Given the description of an element on the screen output the (x, y) to click on. 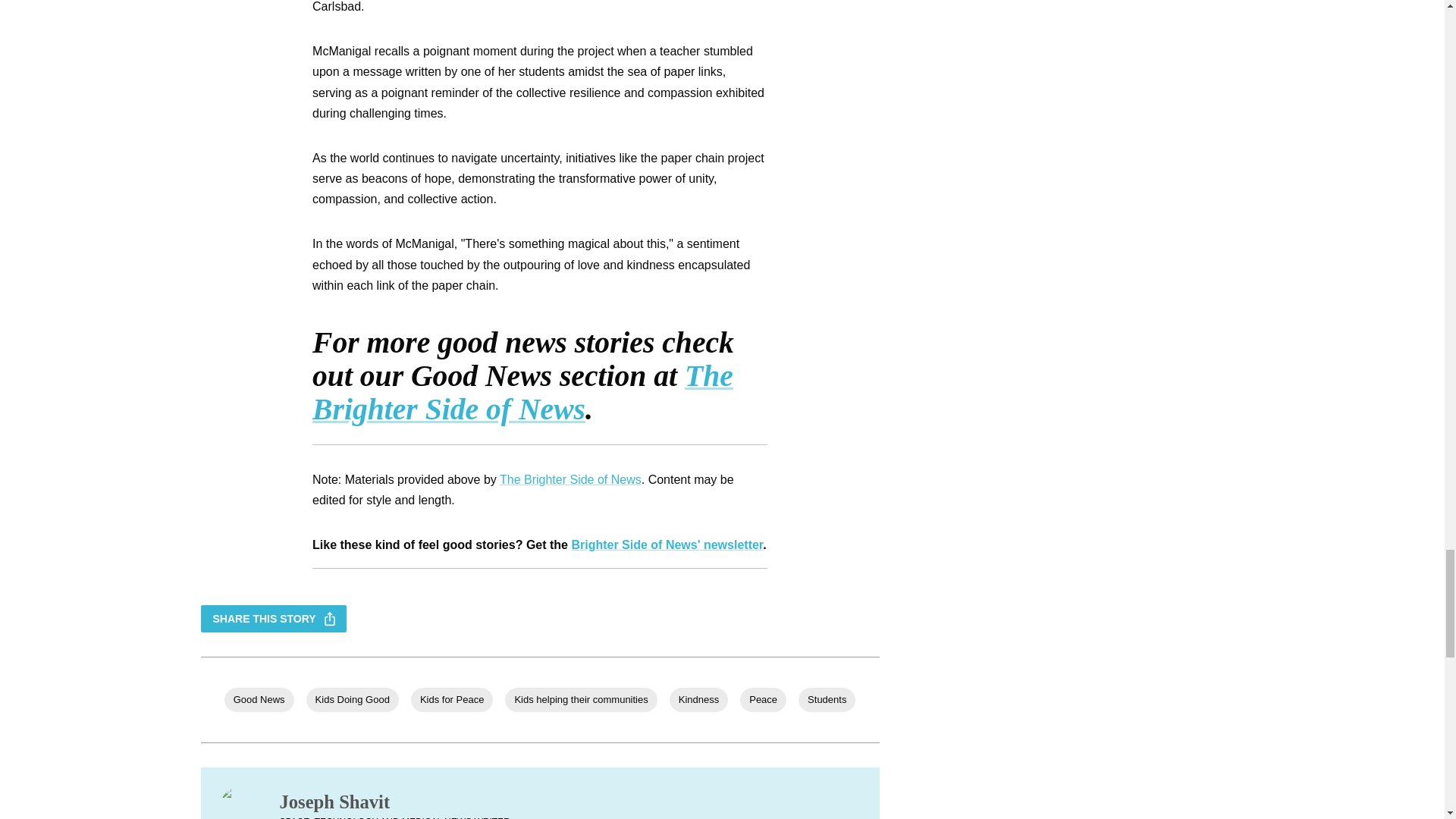
Kids helping their communities (580, 699)
The Brighter Side of News (523, 392)
Kindness (698, 699)
Brighter Side of News' newsletter (666, 544)
SHARE THIS STORY (273, 619)
Students (826, 699)
Kids for Peace (451, 699)
Good News (259, 699)
The Brighter Side of News (570, 479)
Joseph Shavit (394, 802)
Kids Doing Good (351, 699)
Peace (762, 699)
